Given the description of an element on the screen output the (x, y) to click on. 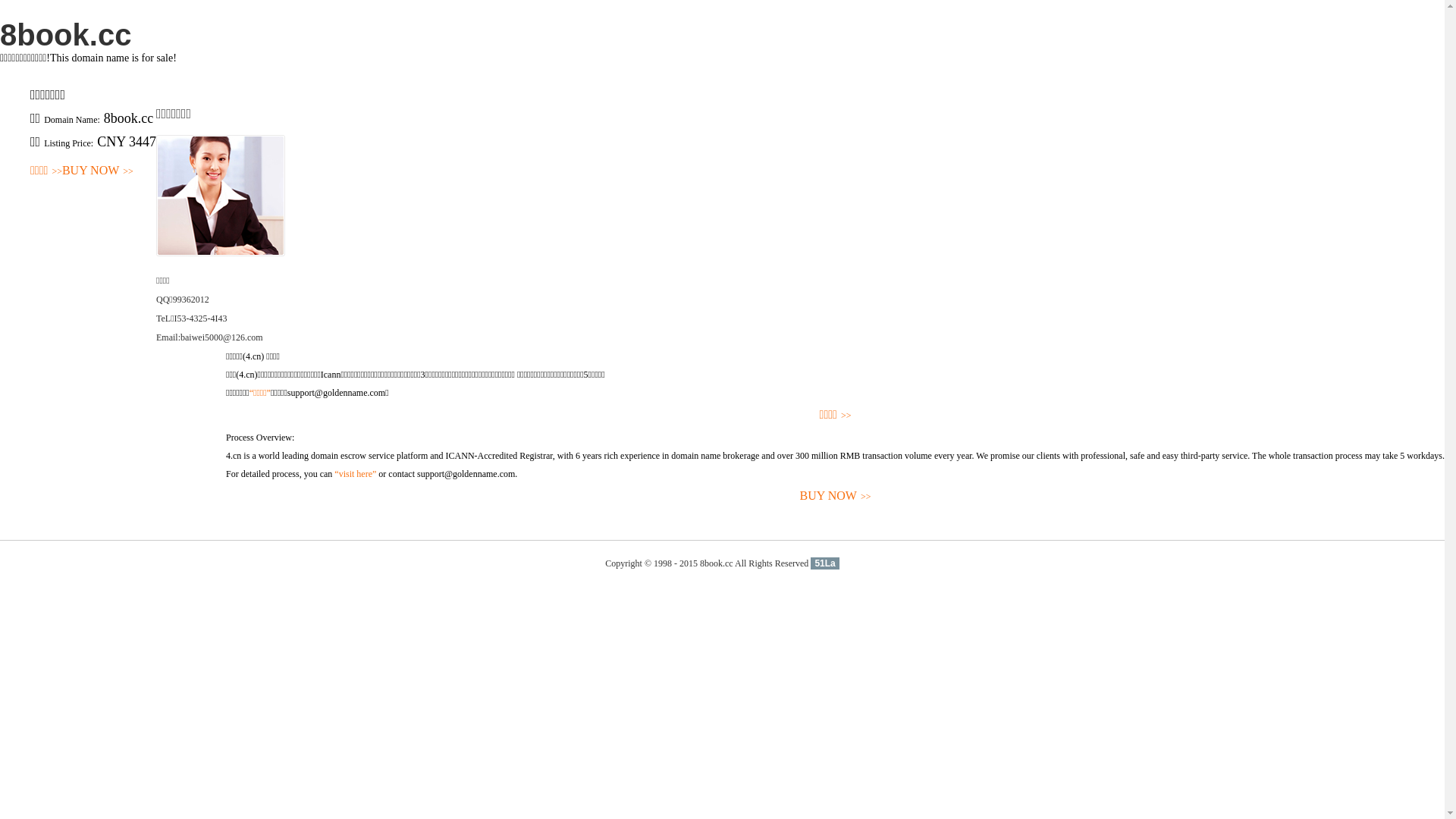
BUY NOW>> Element type: text (834, 496)
51La Element type: text (824, 563)
BUY NOW>> Element type: text (97, 170)
